Given the description of an element on the screen output the (x, y) to click on. 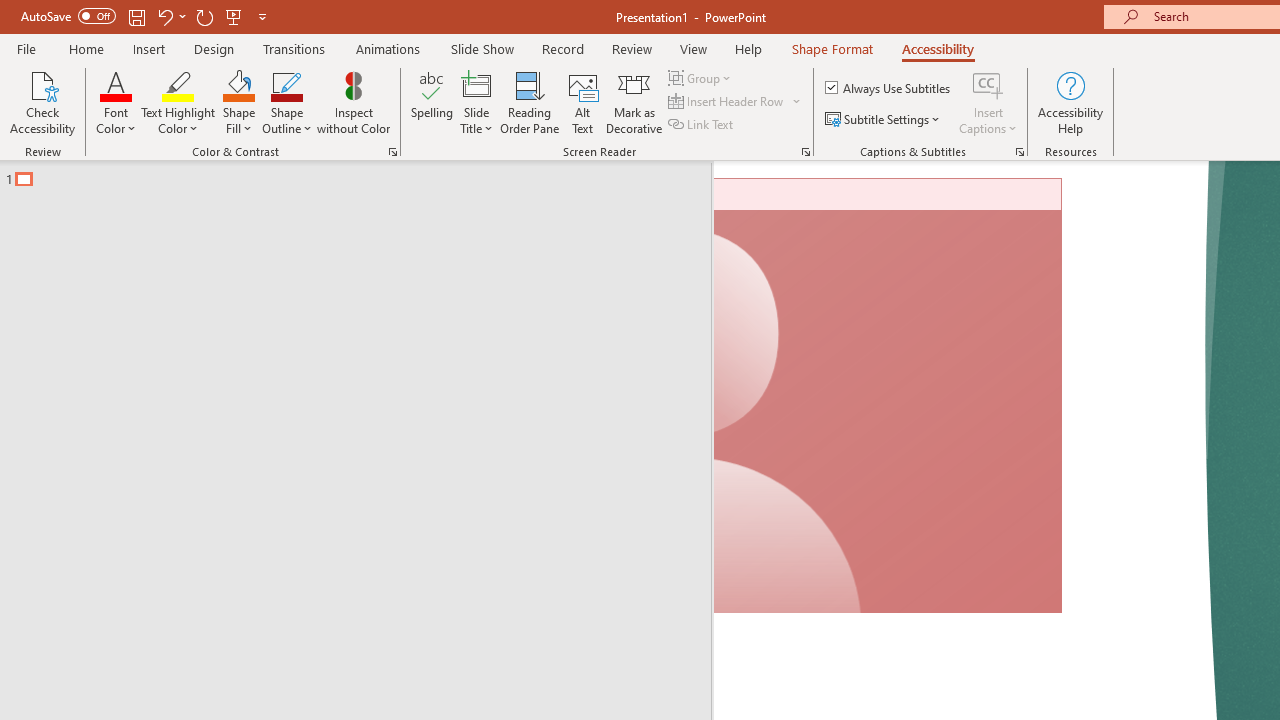
Camera 7, No camera detected. (888, 395)
Mark as Decorative (634, 102)
Inspect without Color (353, 102)
